Given the description of an element on the screen output the (x, y) to click on. 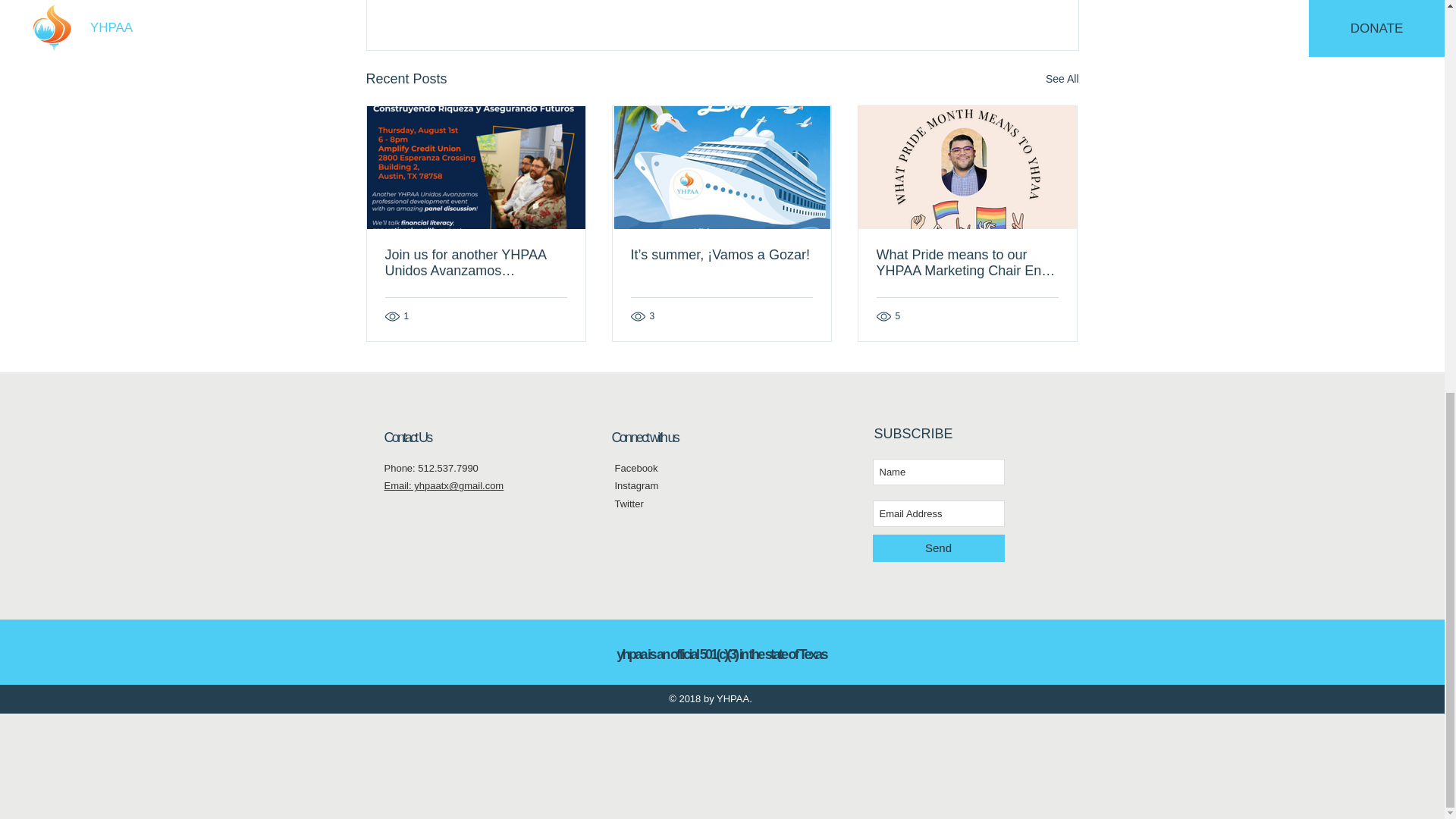
What Pride means to our YHPAA Marketing Chair Enzo Rodriguez (967, 263)
Facebook (636, 468)
Instagram (636, 485)
Send (938, 547)
Phone: 512.537.7990 (430, 468)
Twitter (628, 503)
See All (1061, 78)
